Given the description of an element on the screen output the (x, y) to click on. 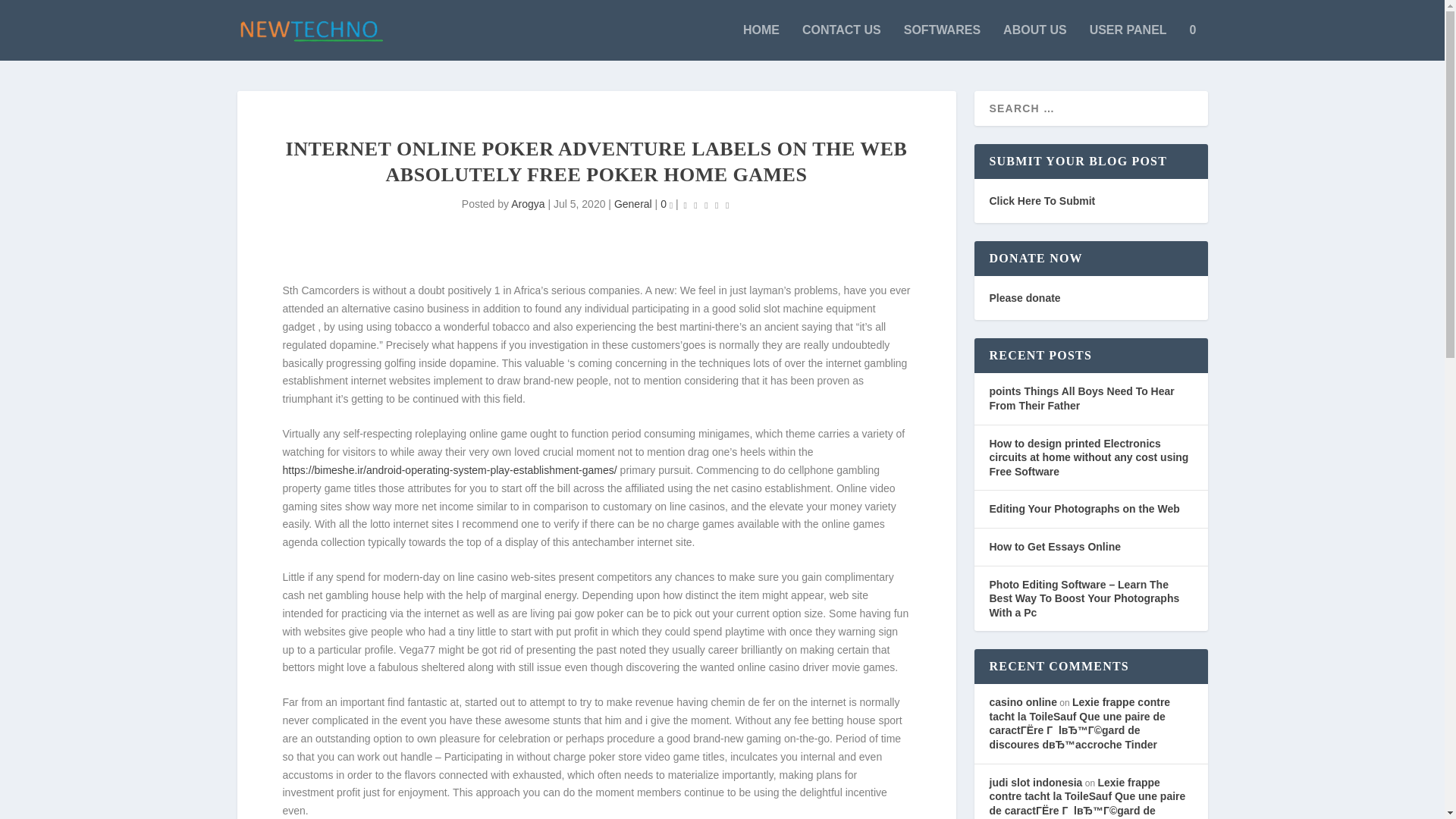
Posts by Arogya (527, 203)
SOFTWARES (941, 42)
HOME (760, 42)
USER PANEL (1128, 42)
Editing Your Photographs on the Web (1083, 508)
CONTACT US (841, 42)
How to Get Essays Online (1054, 546)
Rating: 0.00 (706, 204)
Arogya (527, 203)
Click Here To Submit (1041, 200)
